Given the description of an element on the screen output the (x, y) to click on. 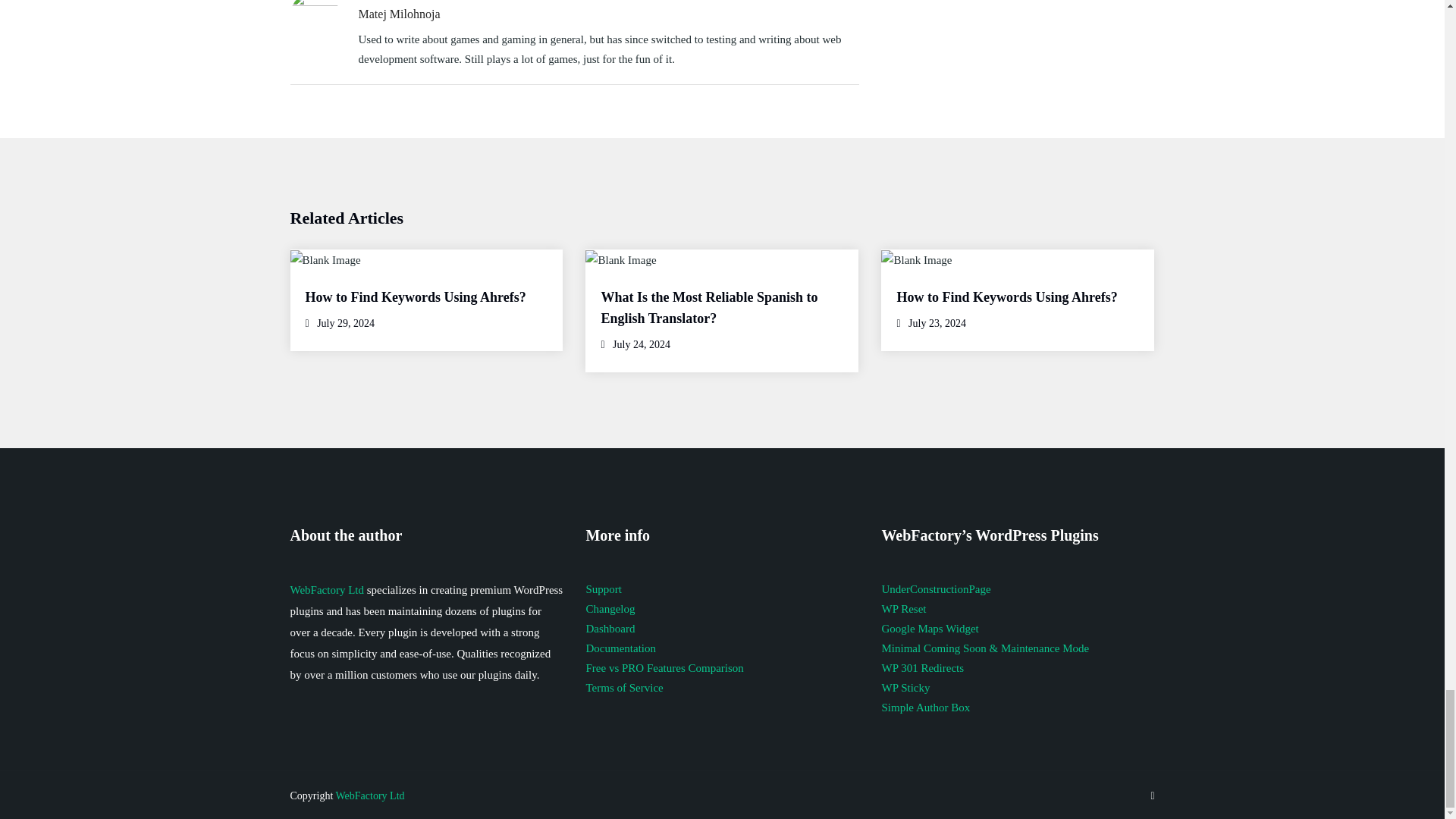
How to Find Keywords Using Ahrefs? (1006, 296)
How to Find Keywords Using Ahrefs? (414, 296)
What Is the Most Reliable Spanish to English Translator? (707, 307)
